Given the description of an element on the screen output the (x, y) to click on. 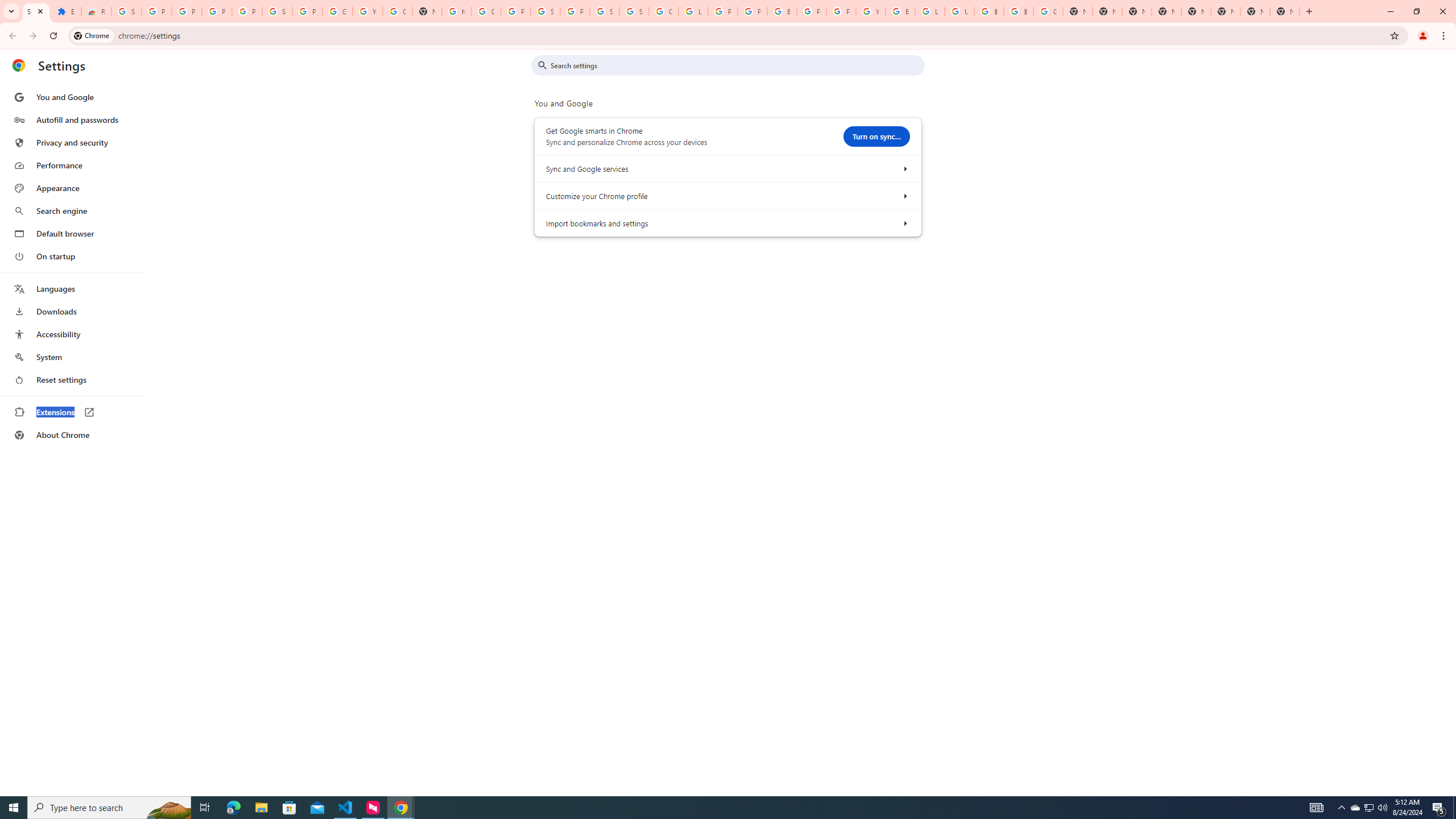
Sign in - Google Accounts (277, 11)
Sign in - Google Accounts (604, 11)
Appearance (70, 187)
Performance (70, 164)
Google Images (1047, 11)
AutomationID: menu (71, 265)
